Given the description of an element on the screen output the (x, y) to click on. 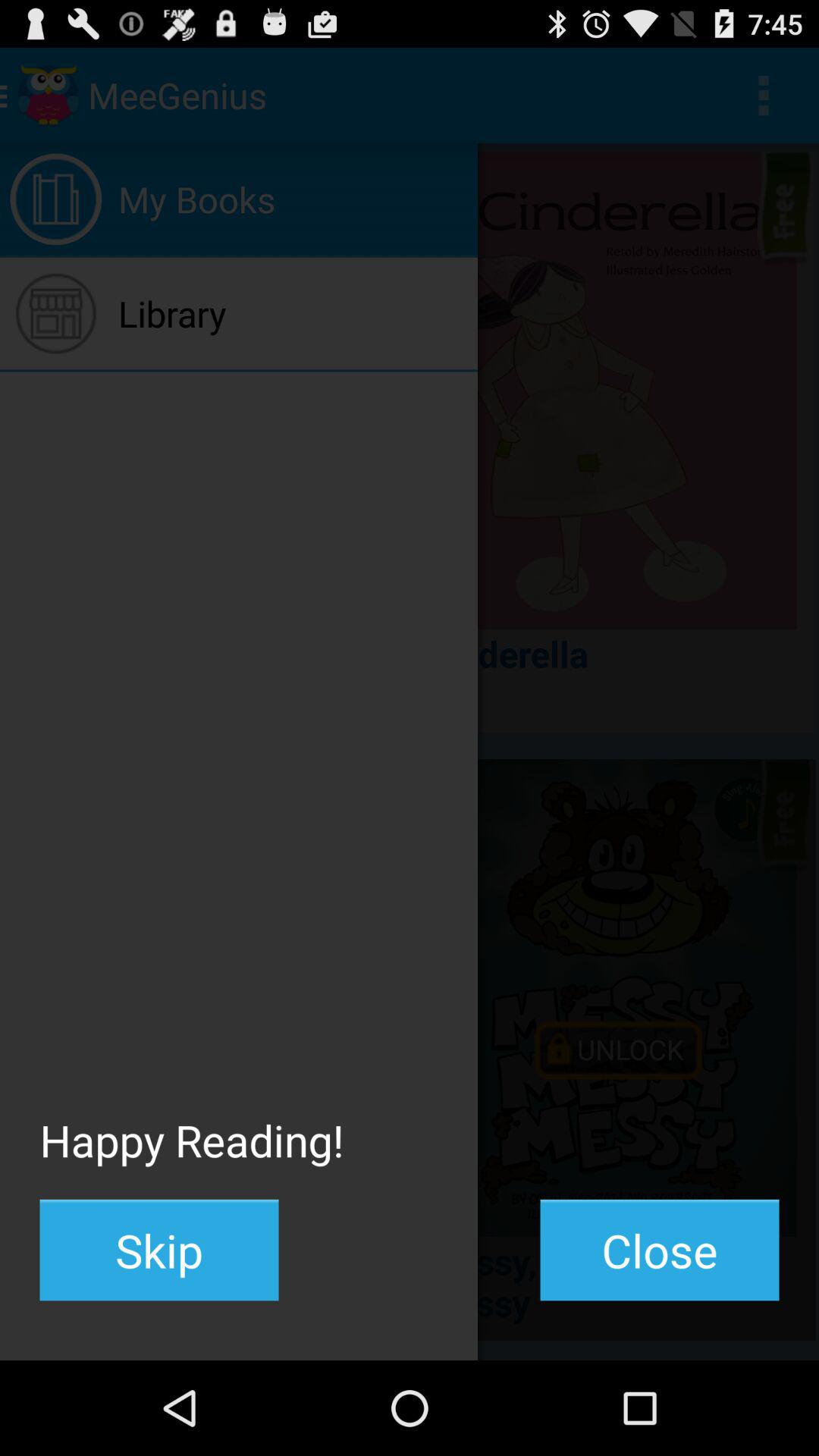
press the button to the right of the skip icon (659, 1249)
